Given the description of an element on the screen output the (x, y) to click on. 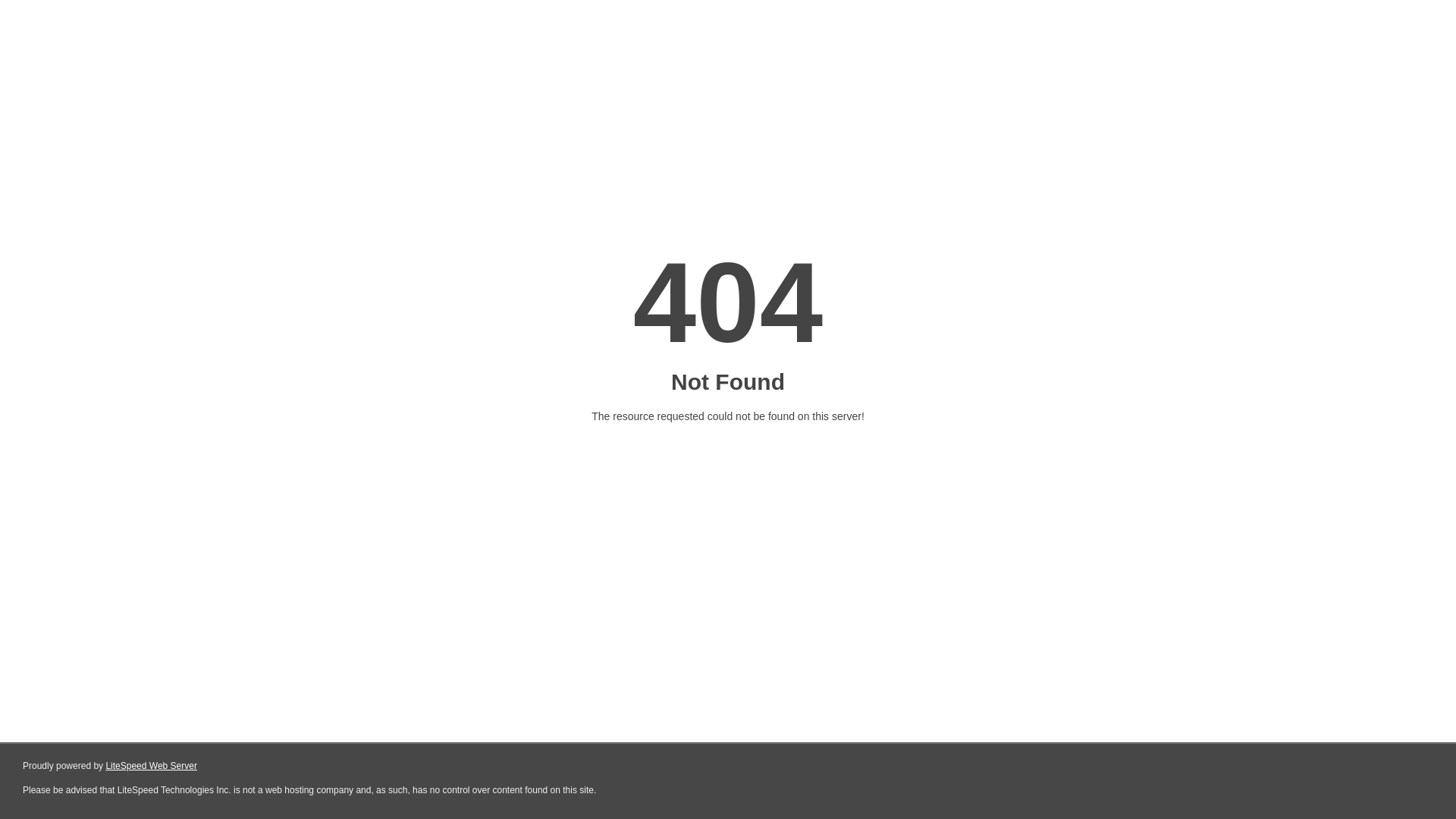
LiteSpeed Web Server Element type: text (151, 765)
